Given the description of an element on the screen output the (x, y) to click on. 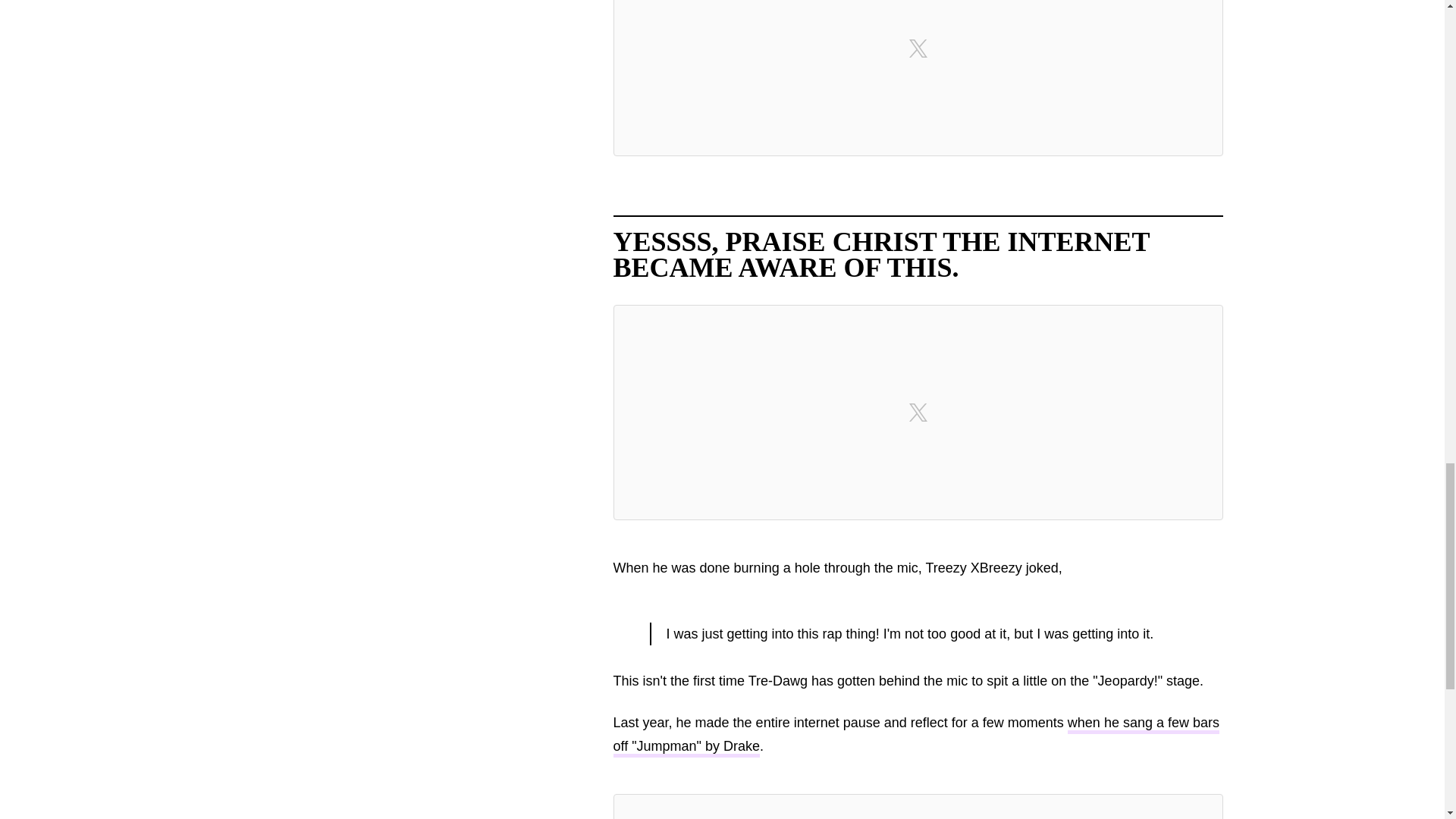
when he sang a few bars off "Jumpman" by Drake (915, 735)
